Given the description of an element on the screen output the (x, y) to click on. 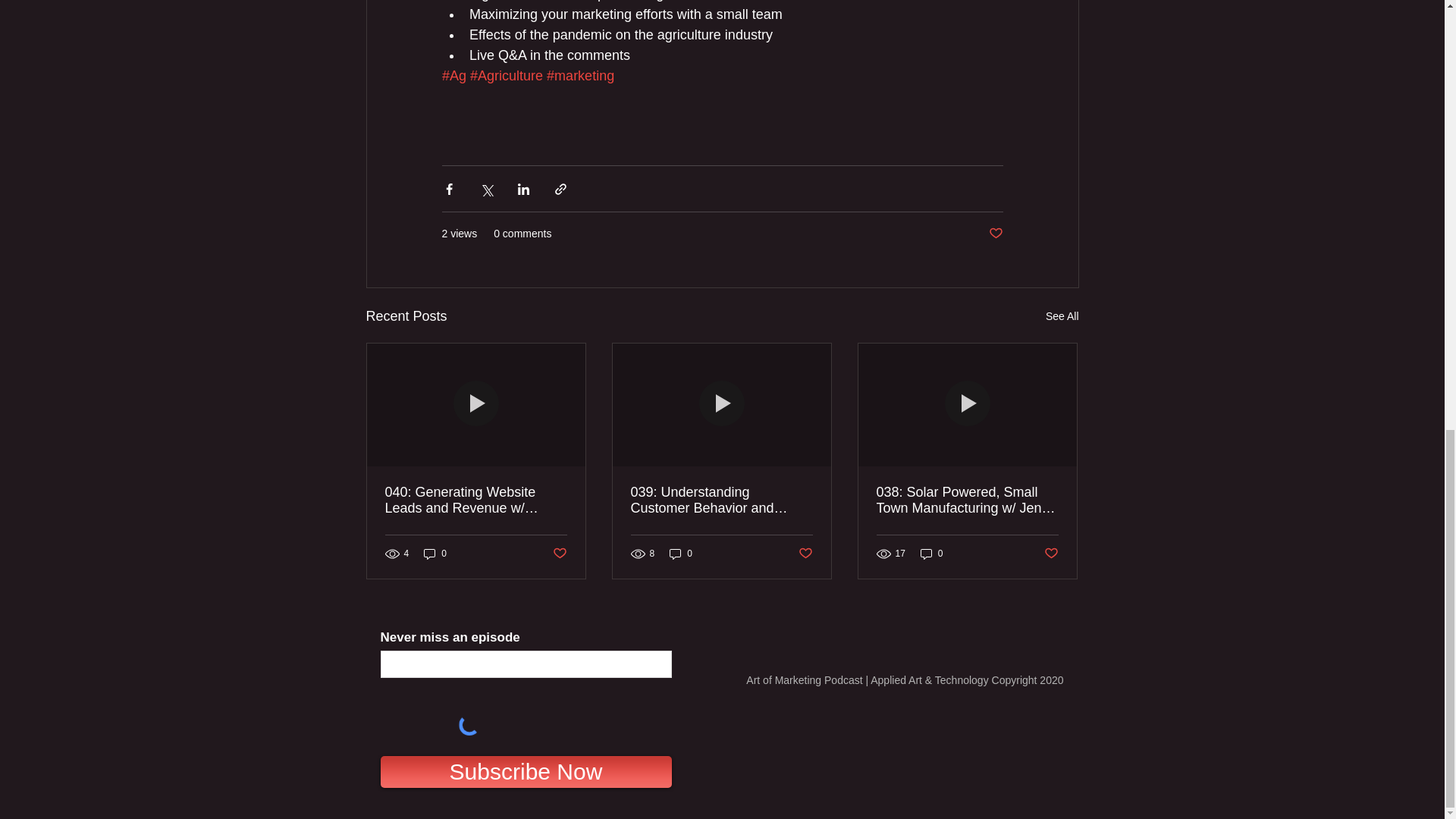
Post not marked as liked (1050, 553)
Post not marked as liked (558, 553)
Subscribe Now (525, 771)
0 (931, 554)
Post not marked as liked (804, 553)
Post not marked as liked (995, 233)
0 (435, 554)
0 (681, 554)
See All (1061, 316)
